Given the description of an element on the screen output the (x, y) to click on. 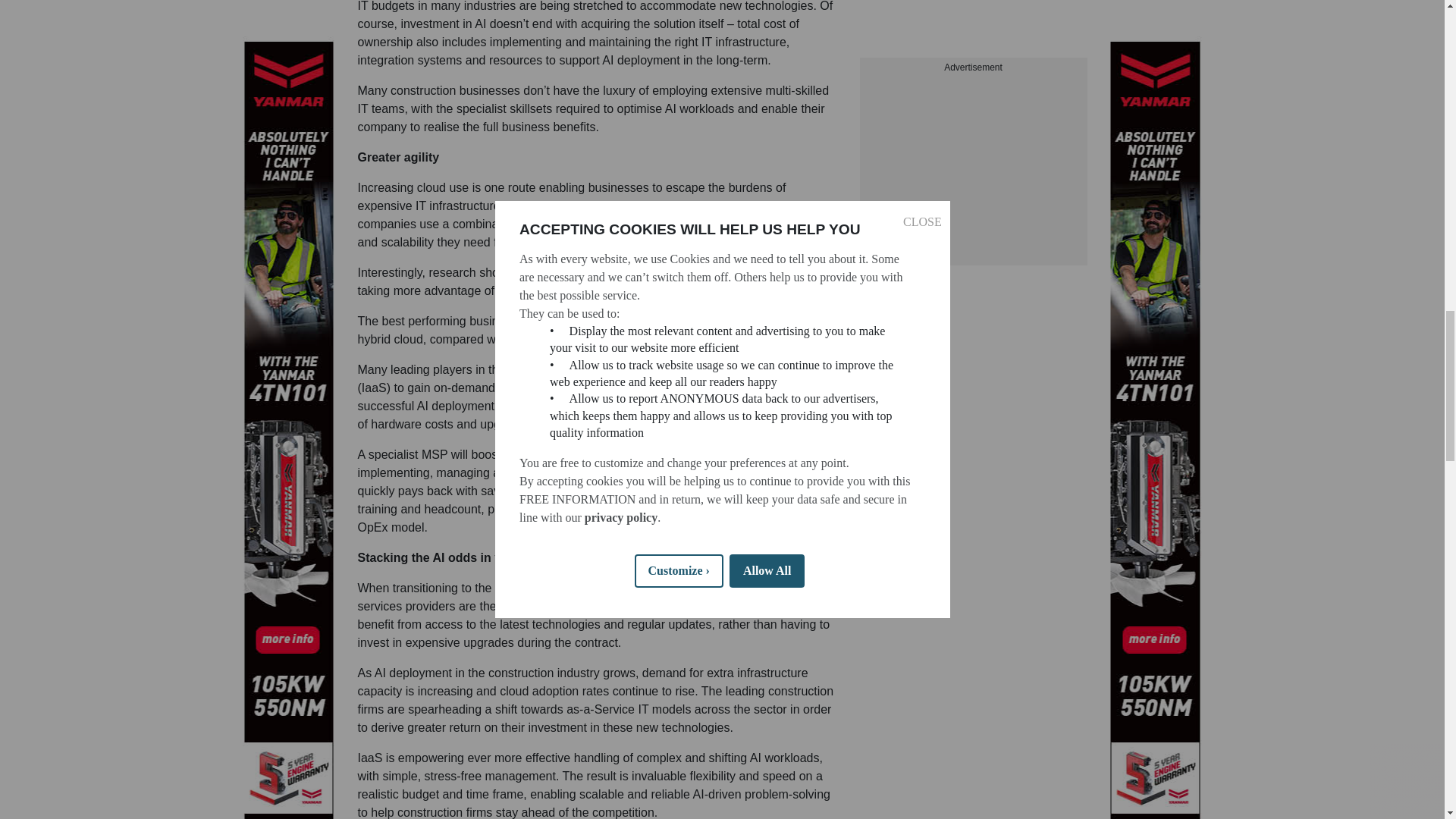
3rd party ad content (973, 44)
